Given the description of an element on the screen output the (x, y) to click on. 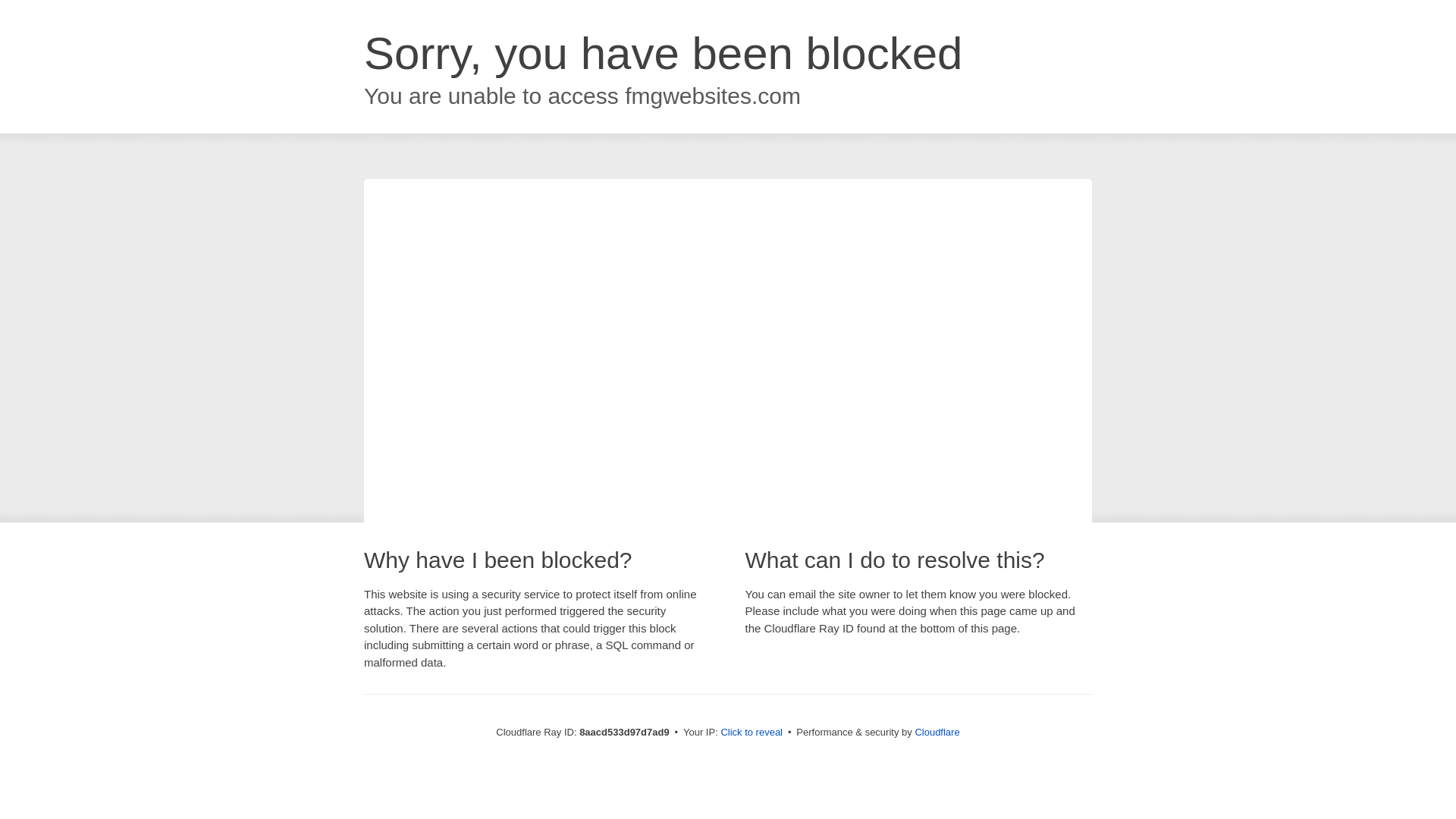
Cloudflare (936, 731)
Click to reveal (751, 732)
